Given the description of an element on the screen output the (x, y) to click on. 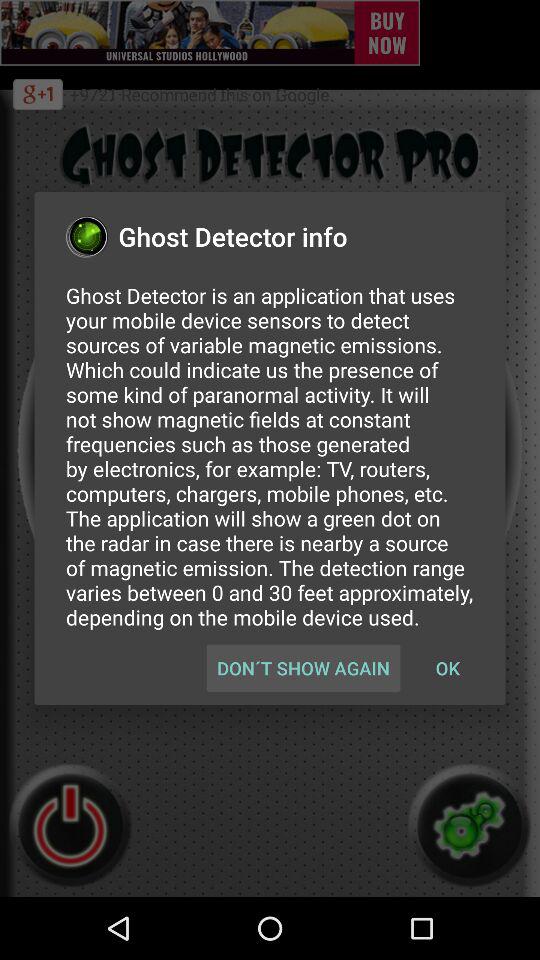
select the icon at the bottom right corner (447, 667)
